Given the description of an element on the screen output the (x, y) to click on. 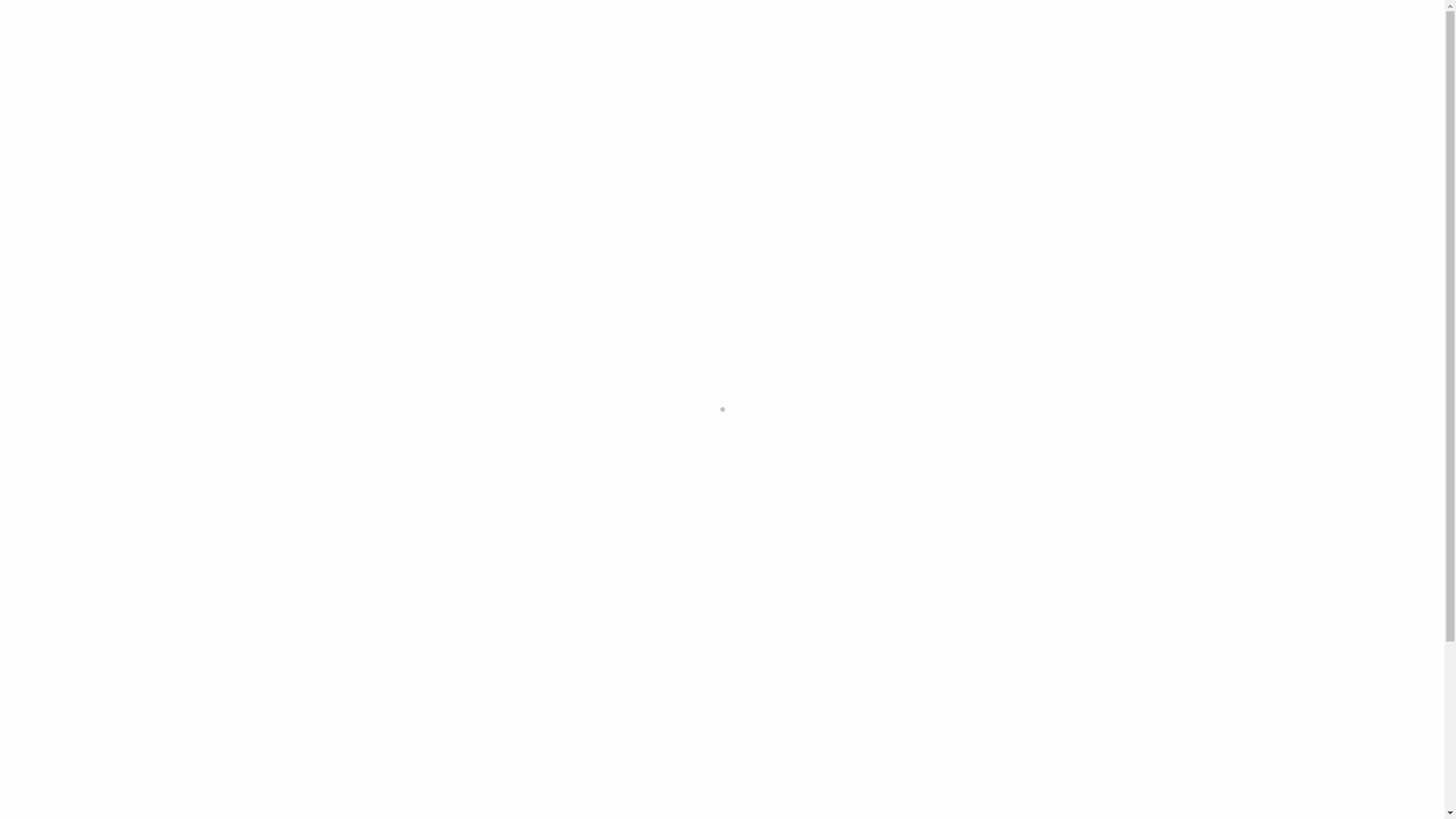
Kontakt Element type: text (1397, 45)
Snickeriet Element type: text (1124, 45)
Hem Element type: text (986, 45)
Jobba Hos Oss Element type: text (1305, 45)
Projekt Element type: text (1046, 45)
Inred Element type: hover (113, 45)
